Given the description of an element on the screen output the (x, y) to click on. 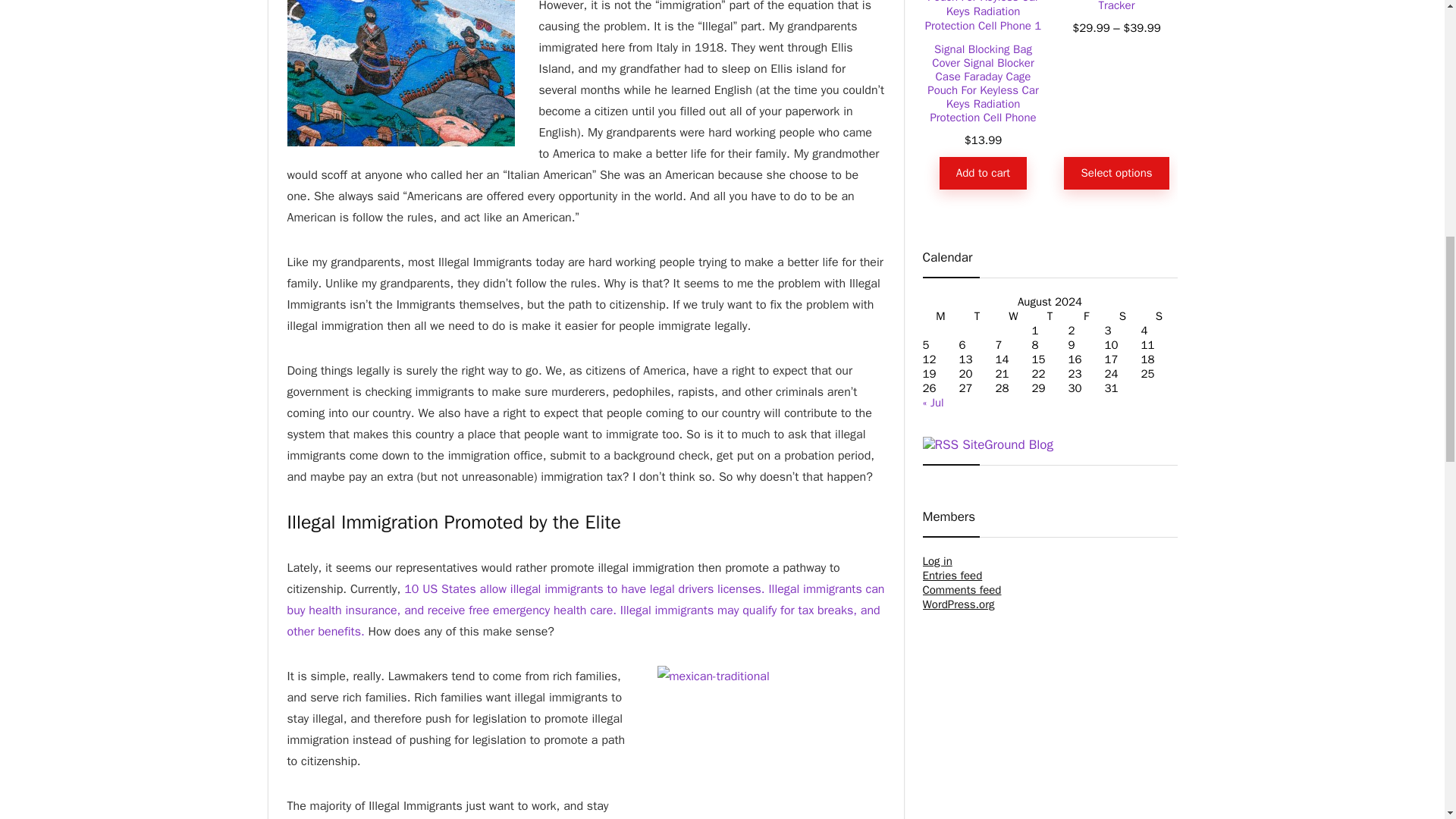
Friday (1085, 316)
Tuesday (976, 316)
Monday (939, 316)
Thursday (1048, 316)
Wednesday (1012, 316)
Saturday (1121, 316)
Sunday (1158, 316)
